Given the description of an element on the screen output the (x, y) to click on. 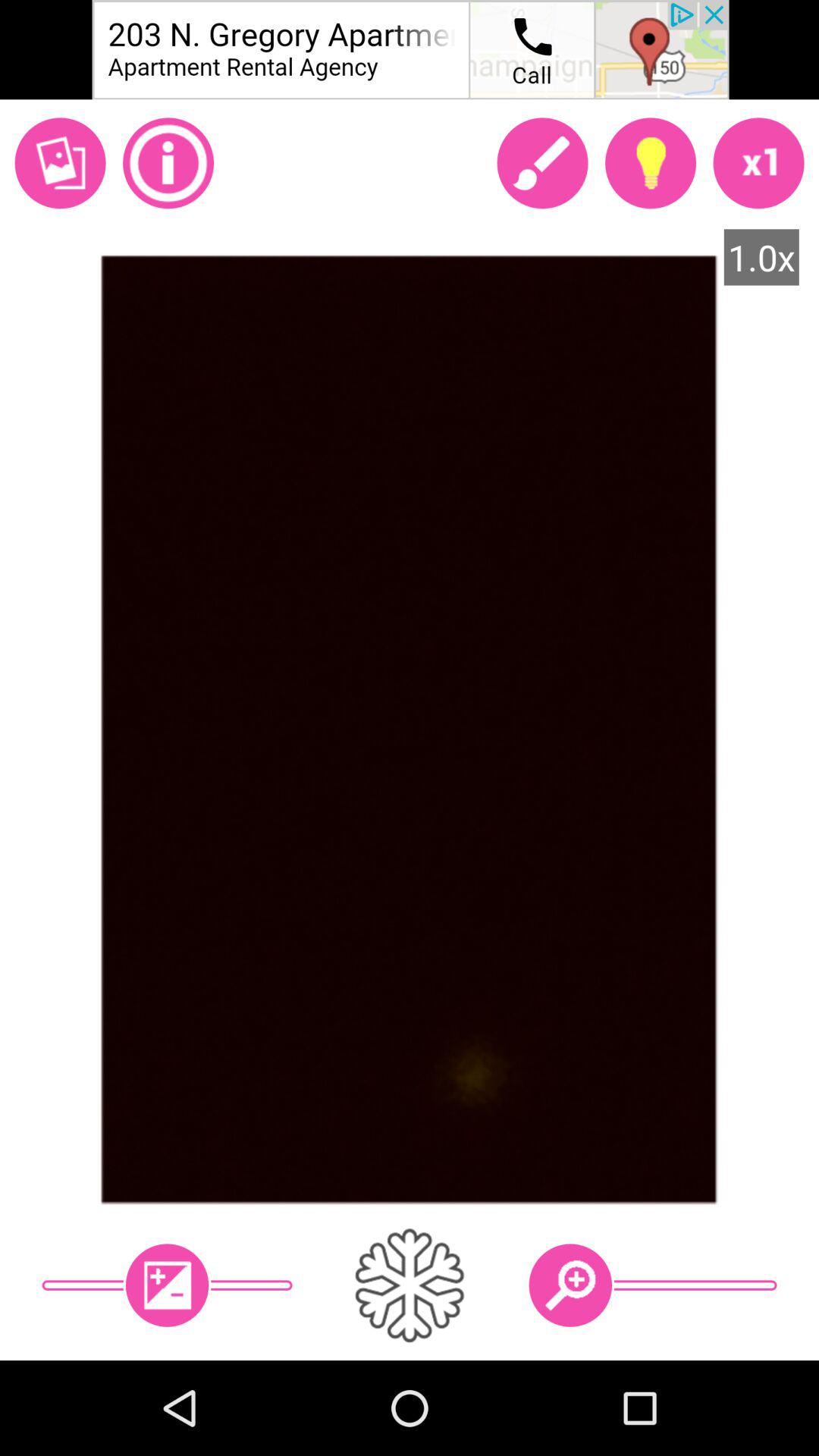
select brush option (542, 163)
